Given the description of an element on the screen output the (x, y) to click on. 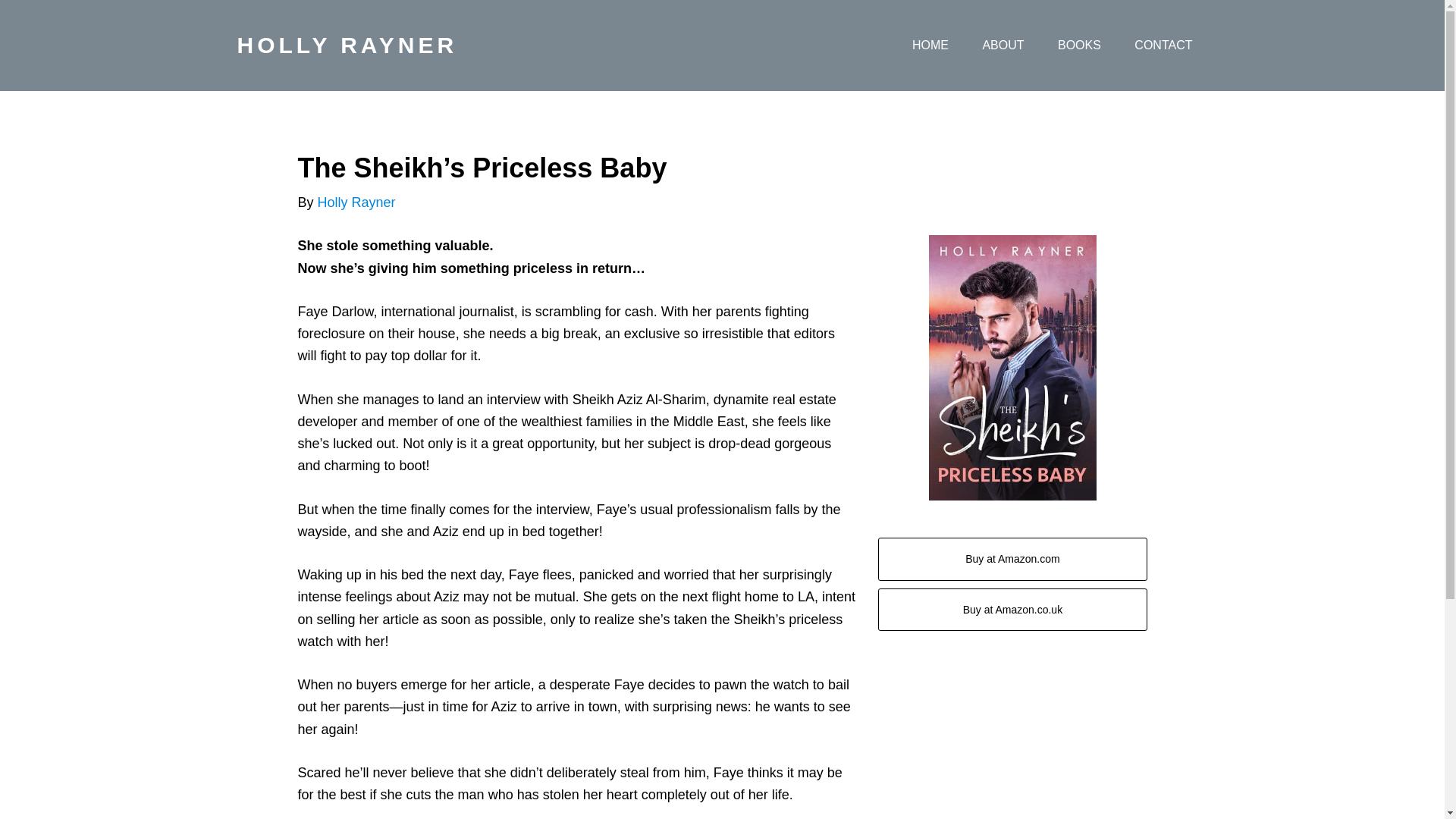
Buy at Amazon.co.uk (1012, 609)
Buy at Amazon.com (1012, 558)
Holly Rayner (356, 201)
HOLLY RAYNER (346, 44)
CONTACT (1163, 45)
